Given the description of an element on the screen output the (x, y) to click on. 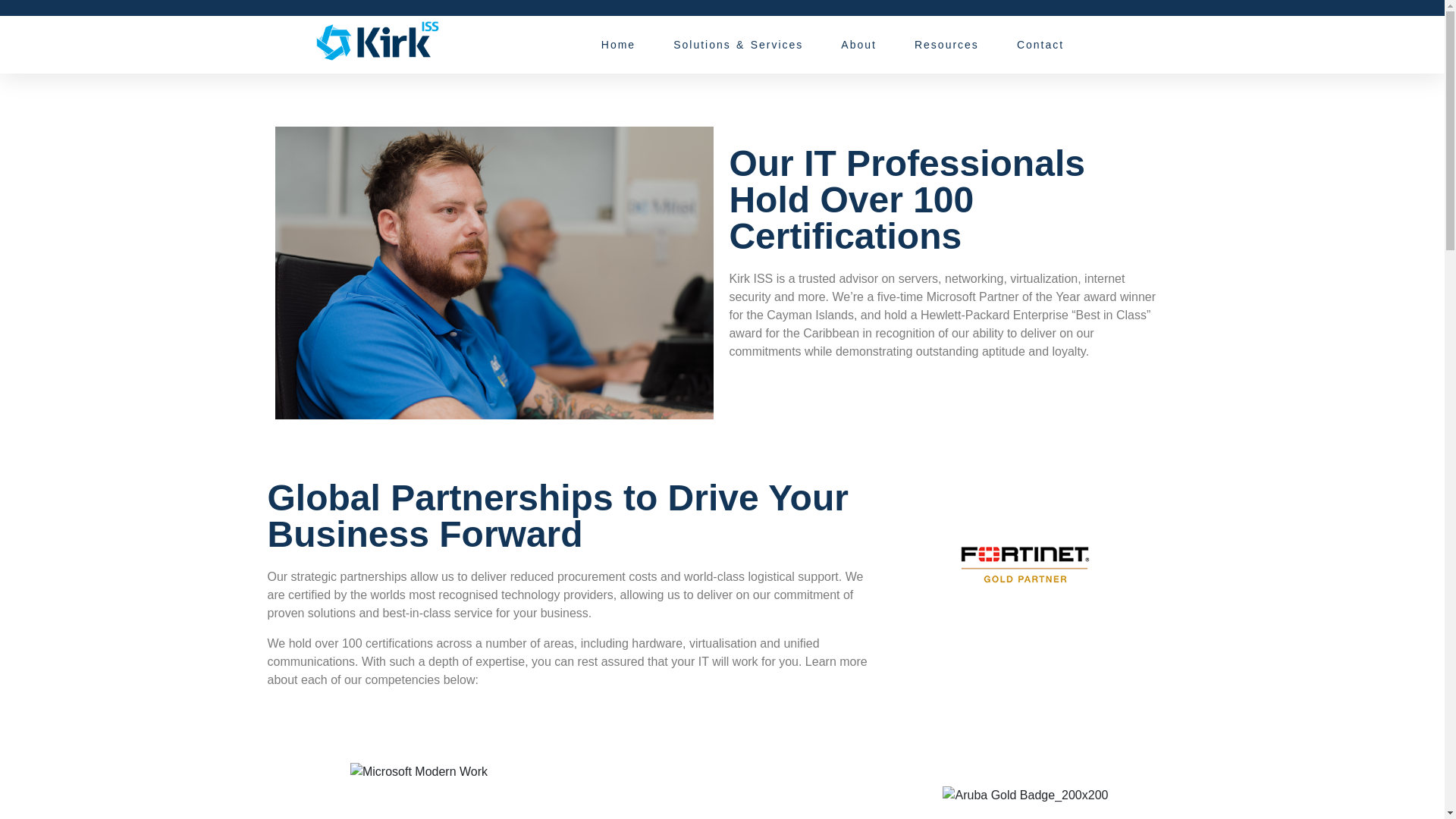
Microsoft Modern Work (418, 771)
Home (617, 44)
Contact (1040, 44)
About (858, 44)
Resources (946, 44)
